Given the description of an element on the screen output the (x, y) to click on. 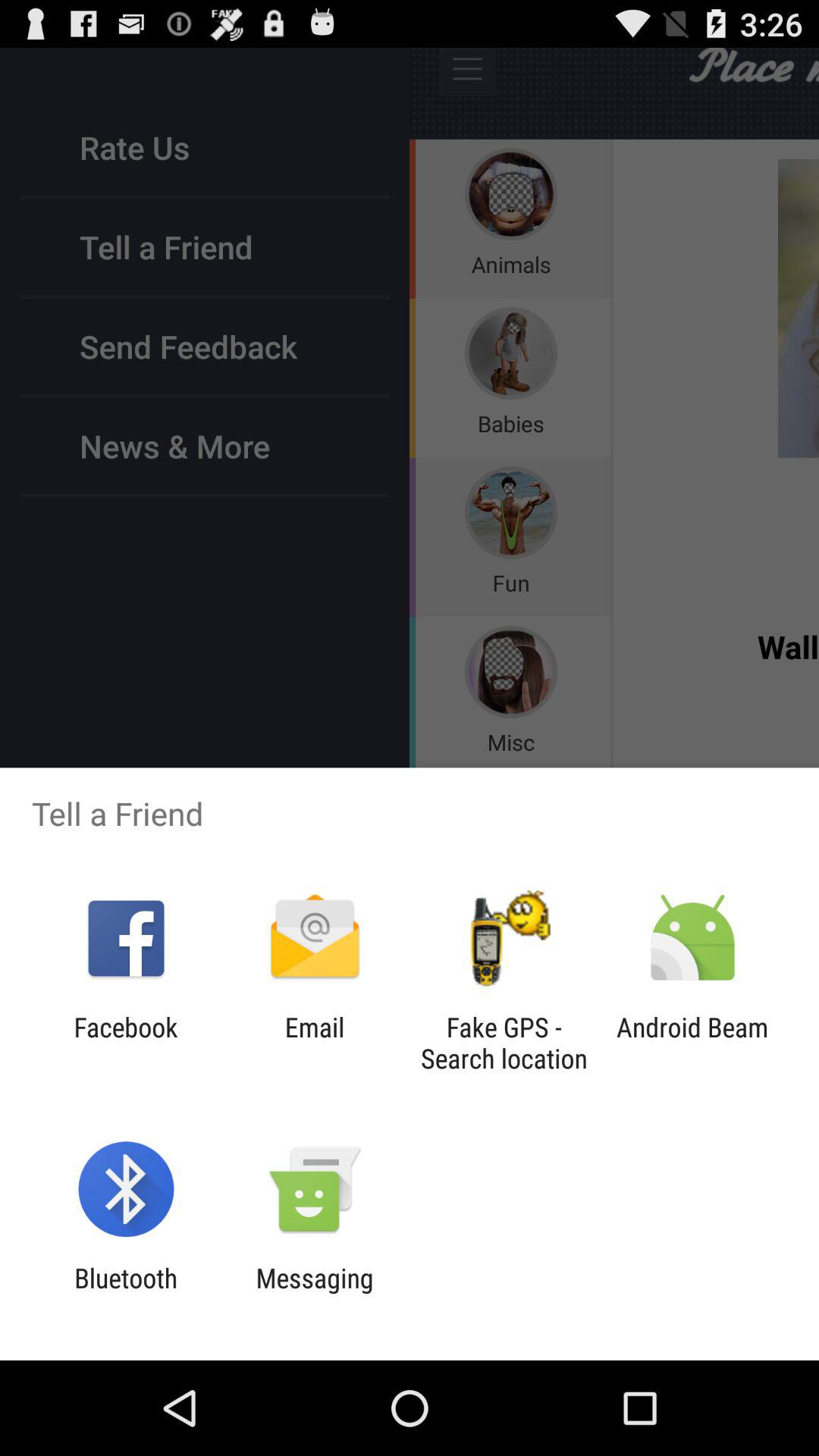
jump until bluetooth app (125, 1293)
